Given the description of an element on the screen output the (x, y) to click on. 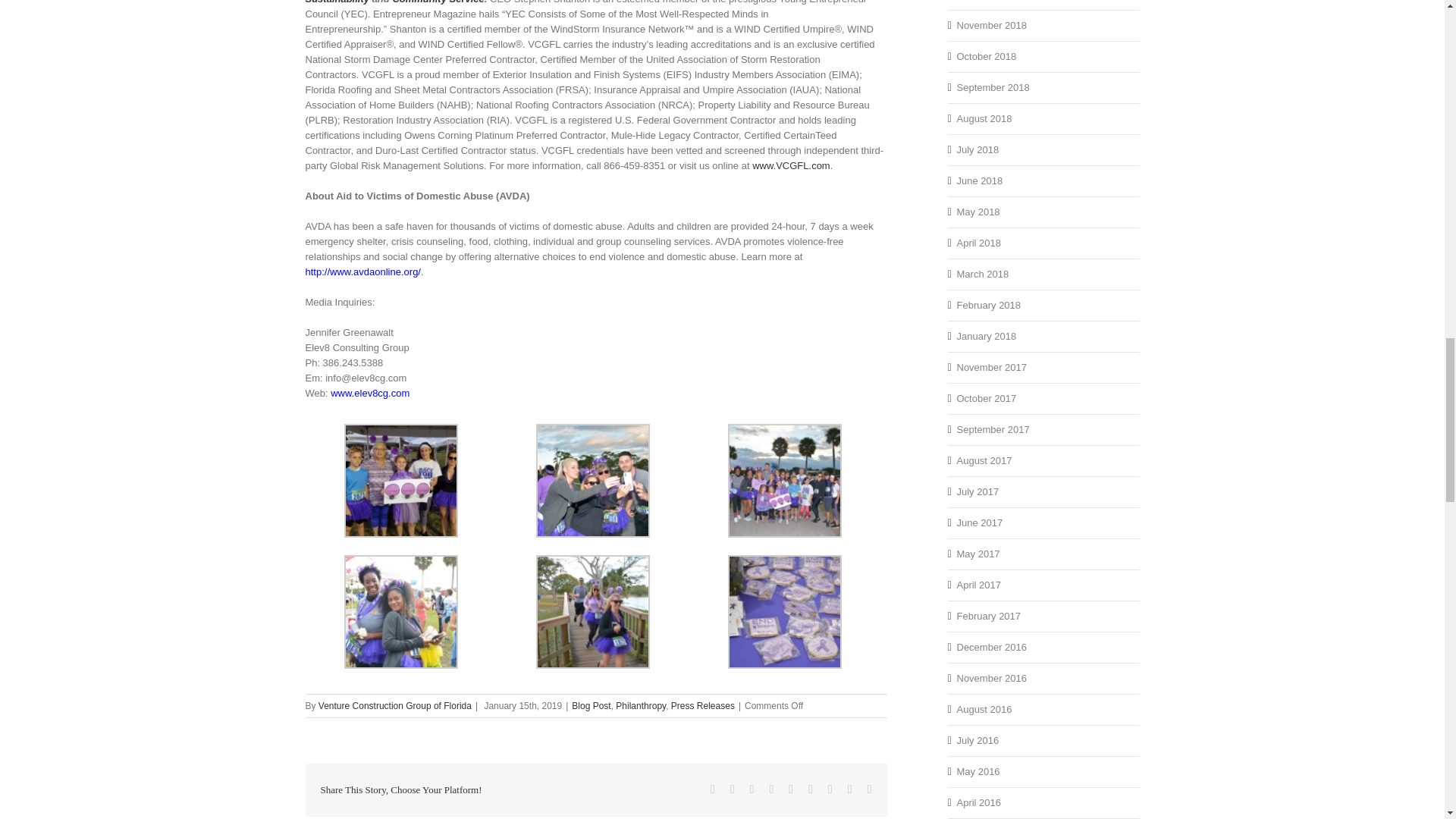
Posts by Venture Construction Group of Florida (394, 706)
